Given the description of an element on the screen output the (x, y) to click on. 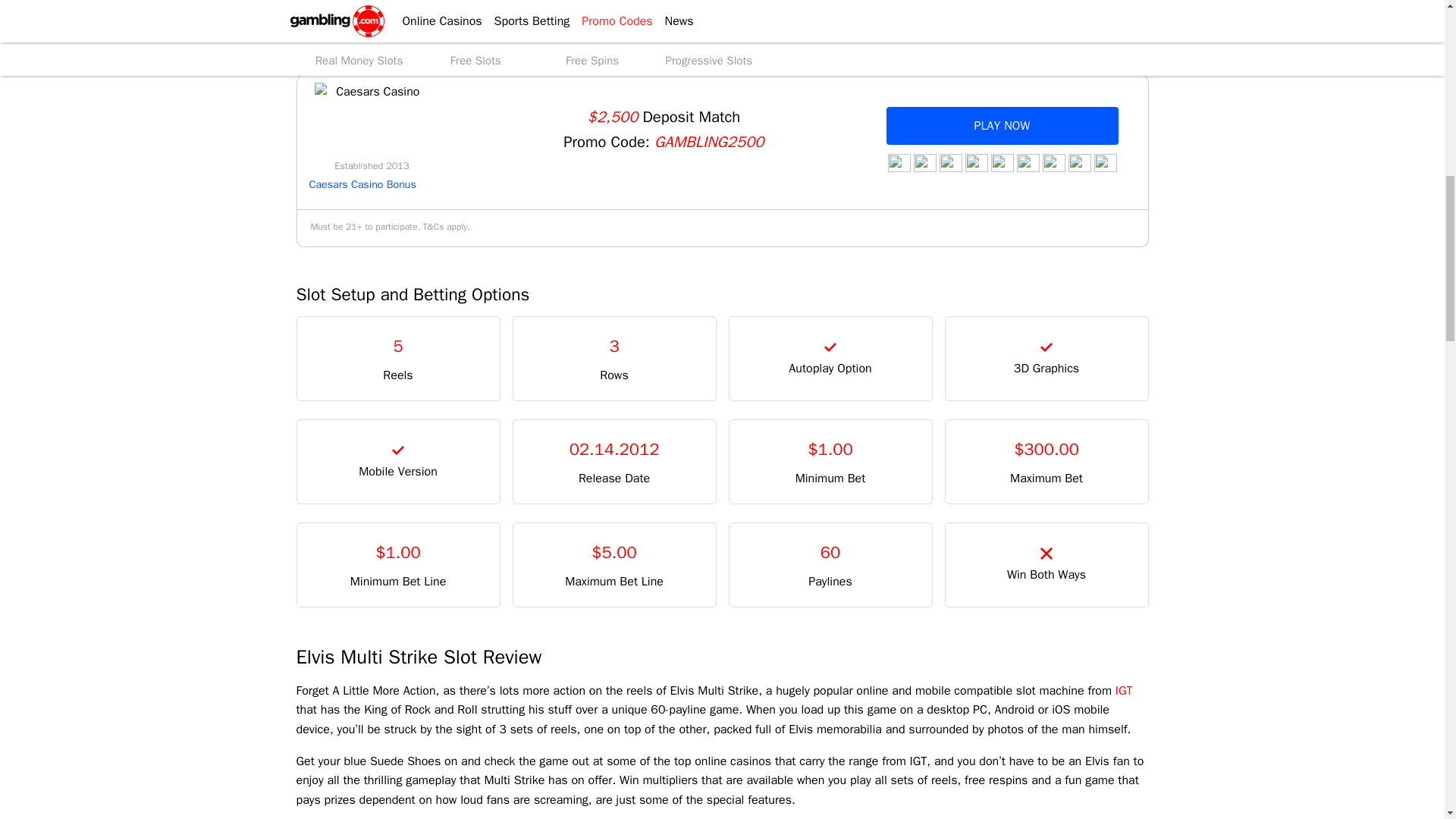
PayNearMe (1078, 162)
PayPal (975, 162)
Discover (1027, 162)
VISA (898, 162)
MasterCard (924, 162)
Skrill (1104, 162)
NETELLER (949, 162)
ACH Transfer (1001, 162)
Caesars Casino (371, 120)
American Express (1053, 162)
